Given the description of an element on the screen output the (x, y) to click on. 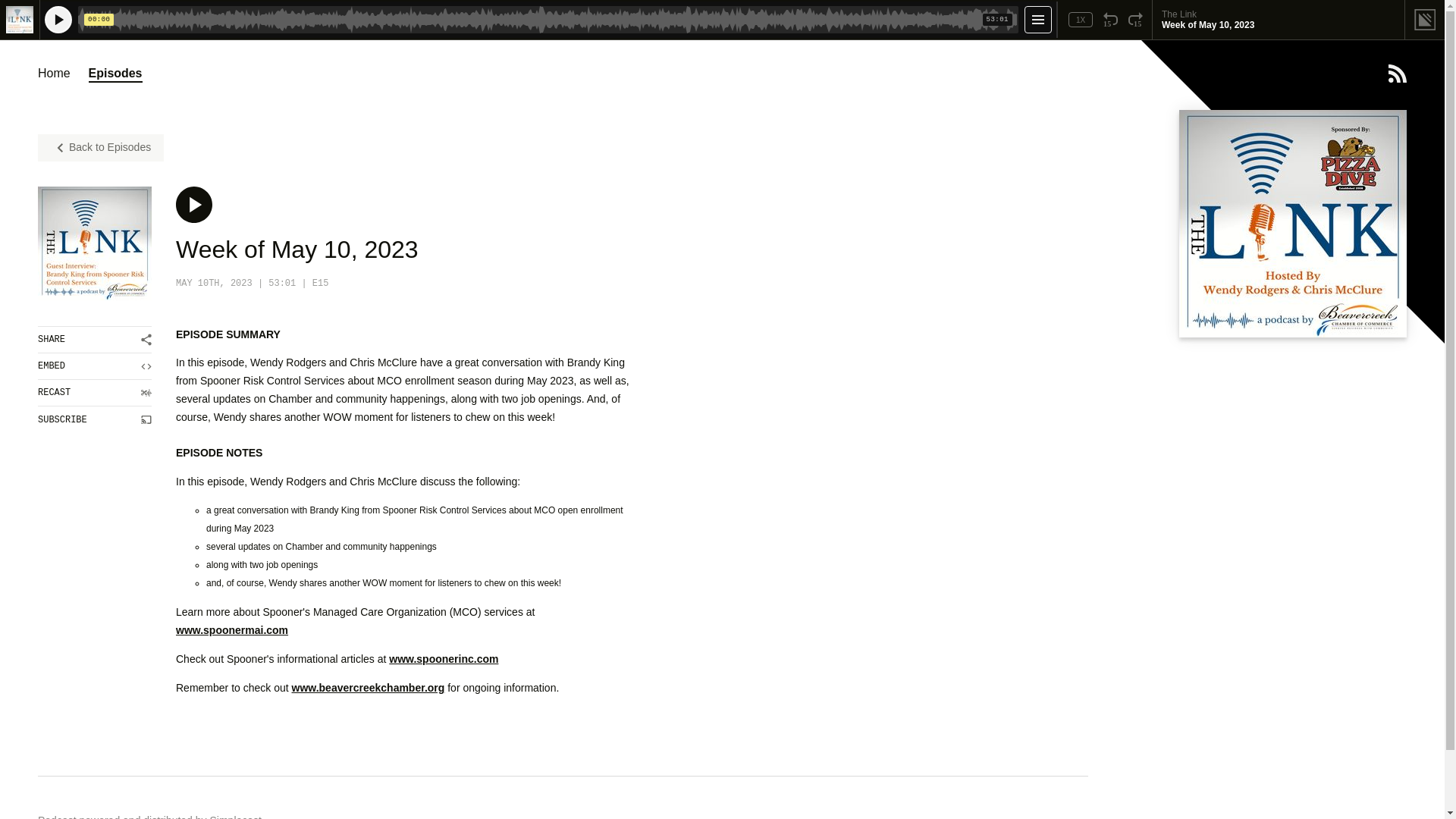
Episodes (115, 73)
15 (1110, 19)
EMBED (94, 366)
www.spoonerinc.com (442, 658)
SUBSCRIBE (94, 419)
Home (53, 73)
RSS (1397, 73)
www.beavercreekchamber.org (368, 687)
Back to Episodes (100, 147)
www.spoonermai.com (232, 630)
